Given the description of an element on the screen output the (x, y) to click on. 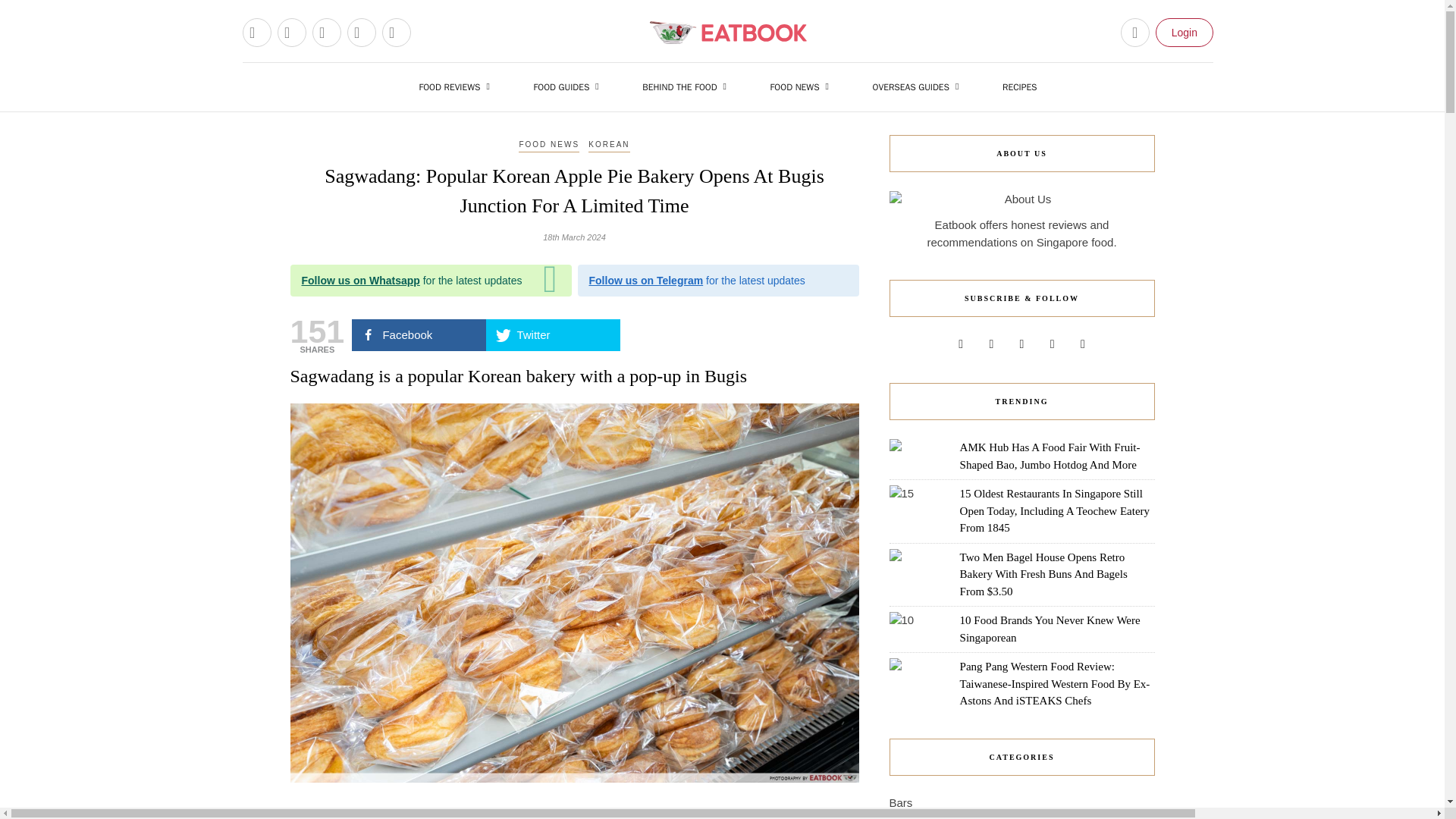
View all posts in Korean (608, 145)
FOOD NEWS (803, 87)
Open search popup (1135, 32)
RECIPES (1019, 87)
BEHIND THE FOOD (687, 87)
FOOD GUIDES (569, 87)
View all posts in Food News (548, 145)
OVERSEAS GUIDES (919, 87)
